Given the description of an element on the screen output the (x, y) to click on. 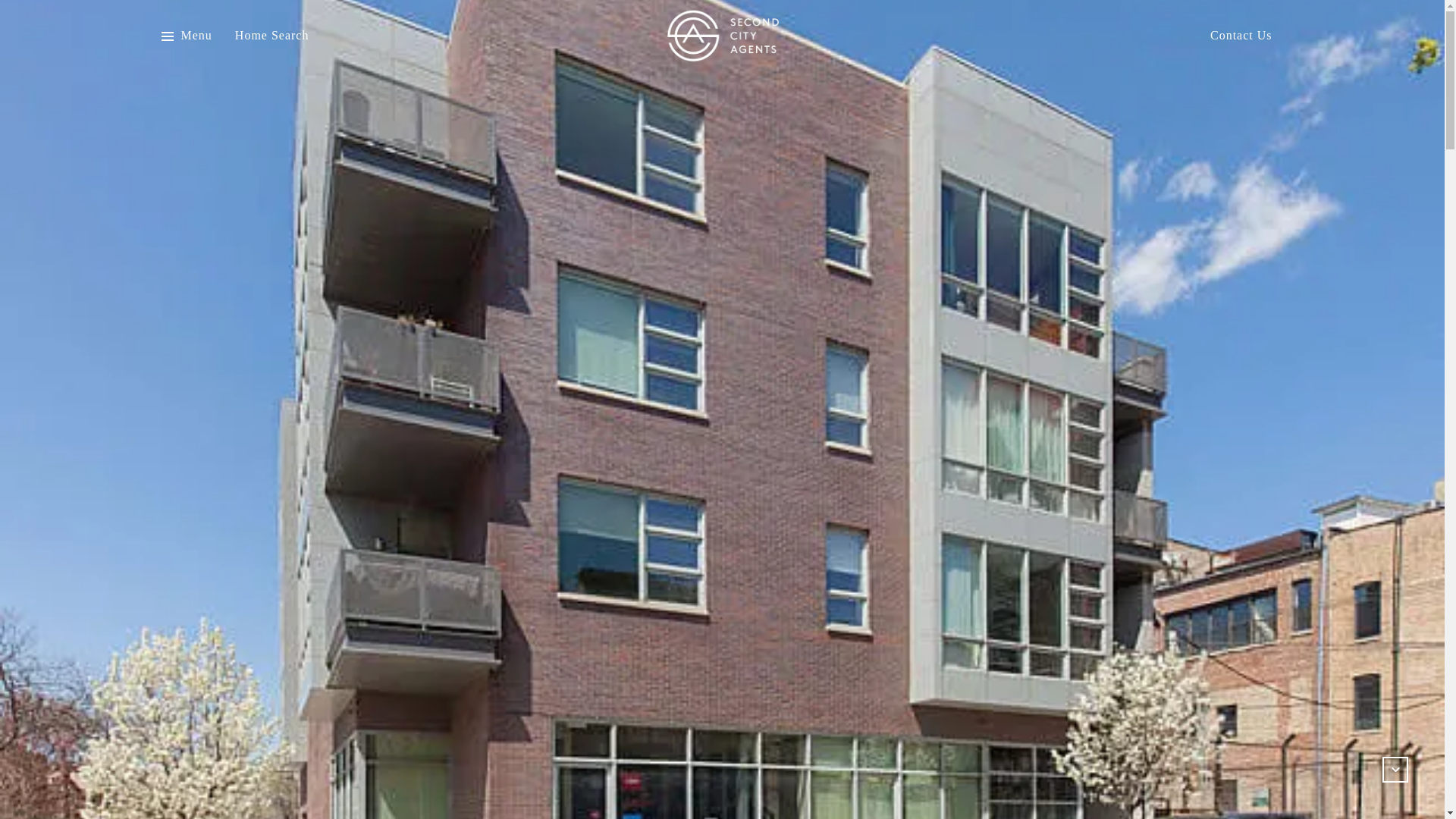
Menu (185, 35)
Home Search (271, 35)
Menu (195, 35)
Contact Us (1240, 35)
